Given the description of an element on the screen output the (x, y) to click on. 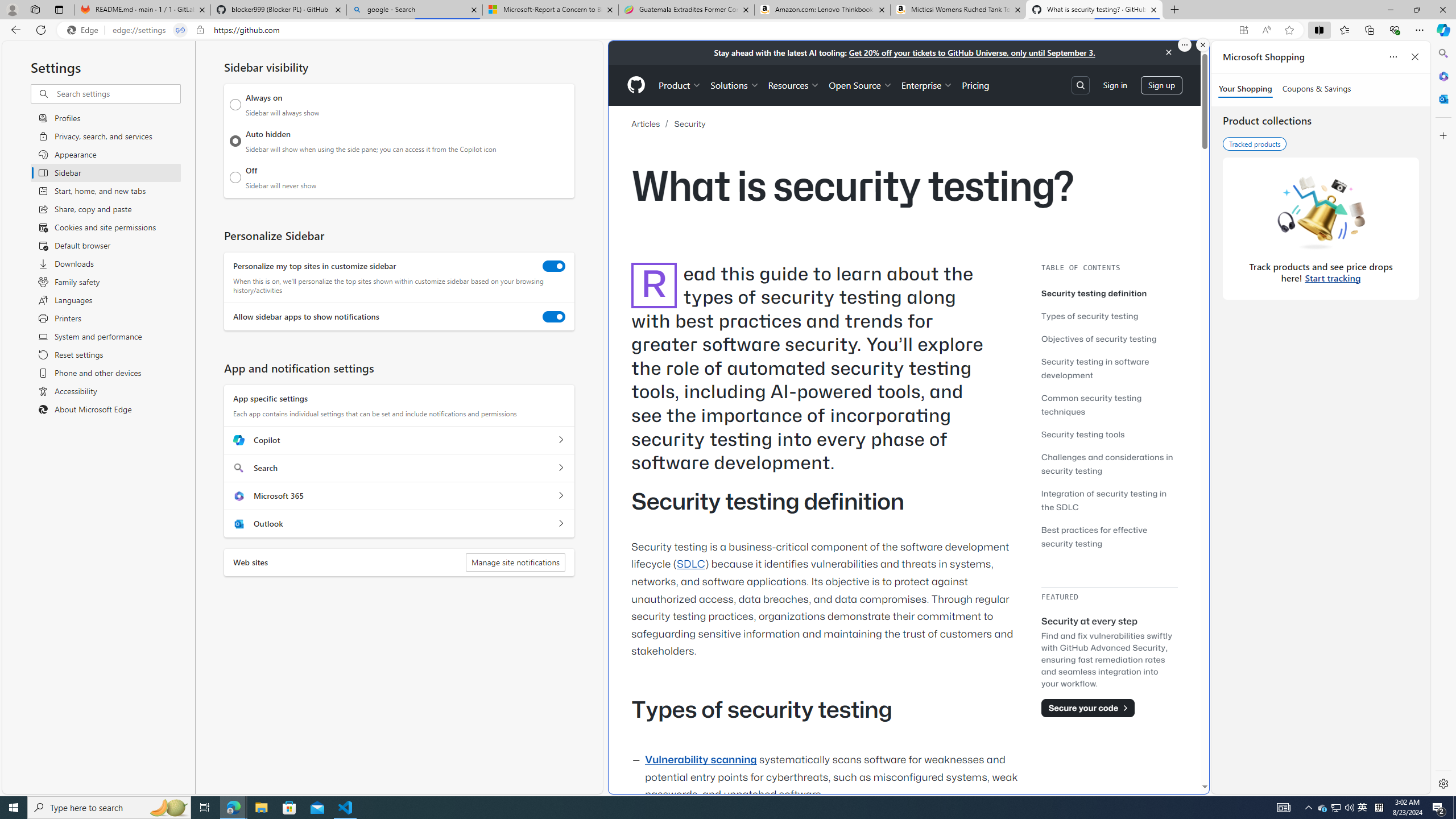
Open Source (860, 84)
Common security testing techniques (1091, 404)
Security (690, 123)
Copilot (560, 439)
Articles (646, 123)
Product (679, 84)
Always on Sidebar will always show (235, 104)
Manage site notifications (514, 562)
